Given the description of an element on the screen output the (x, y) to click on. 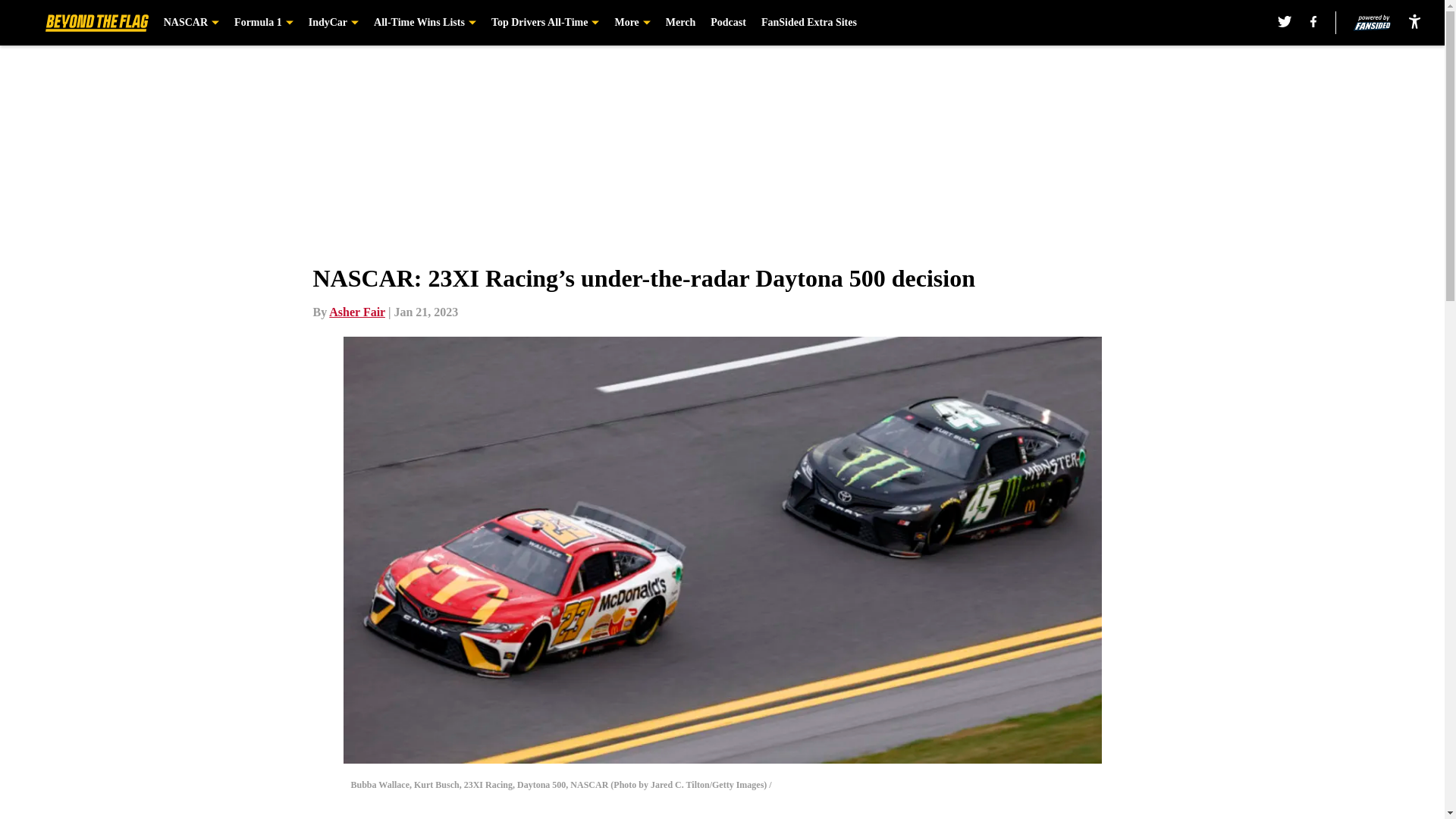
FanSided Extra Sites (809, 22)
Merch (680, 22)
Asher Fair (357, 311)
Podcast (727, 22)
